Given the description of an element on the screen output the (x, y) to click on. 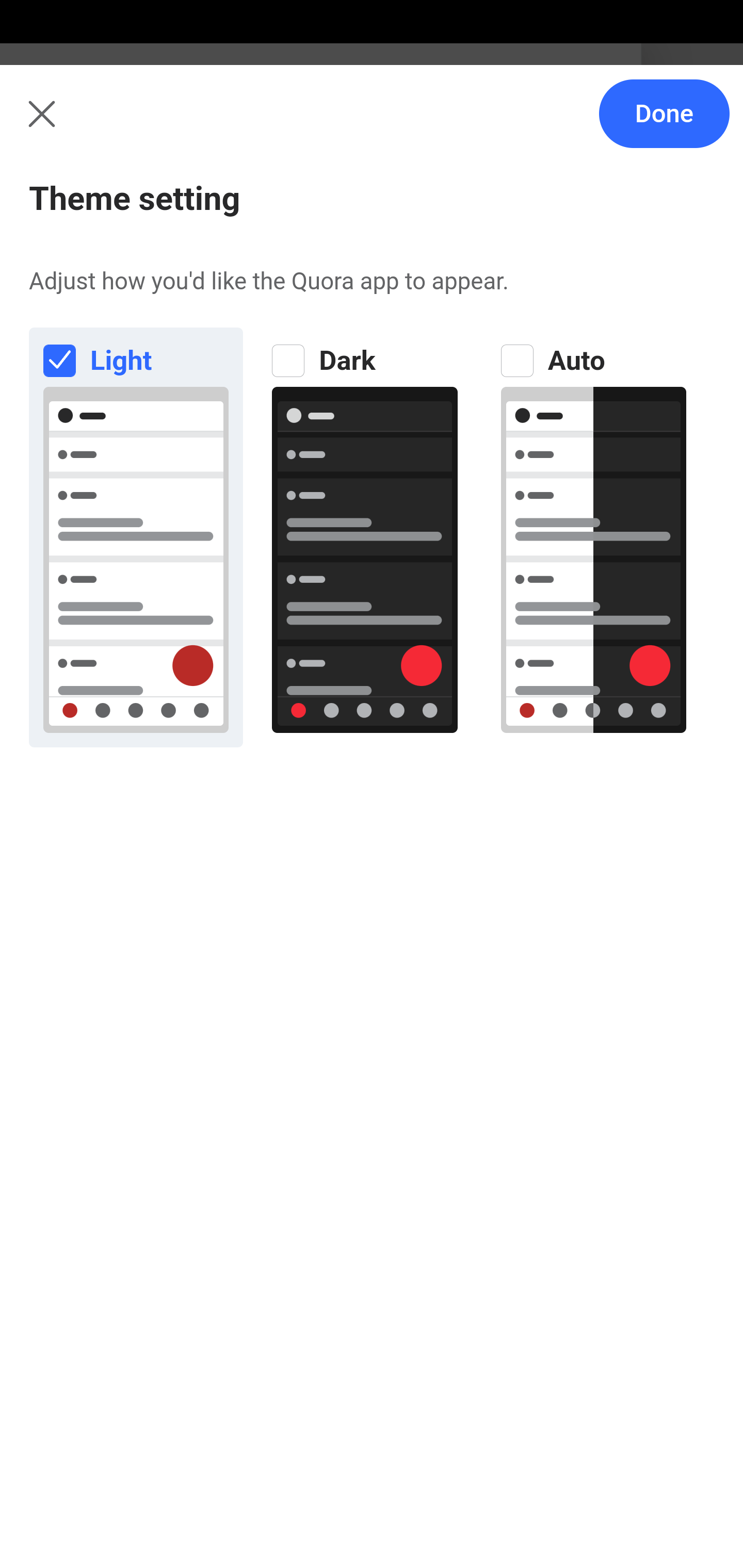
Me Notifications Search (371, 125)
Me (64, 125)
All Notifications Read (160, 213)
